Given the description of an element on the screen output the (x, y) to click on. 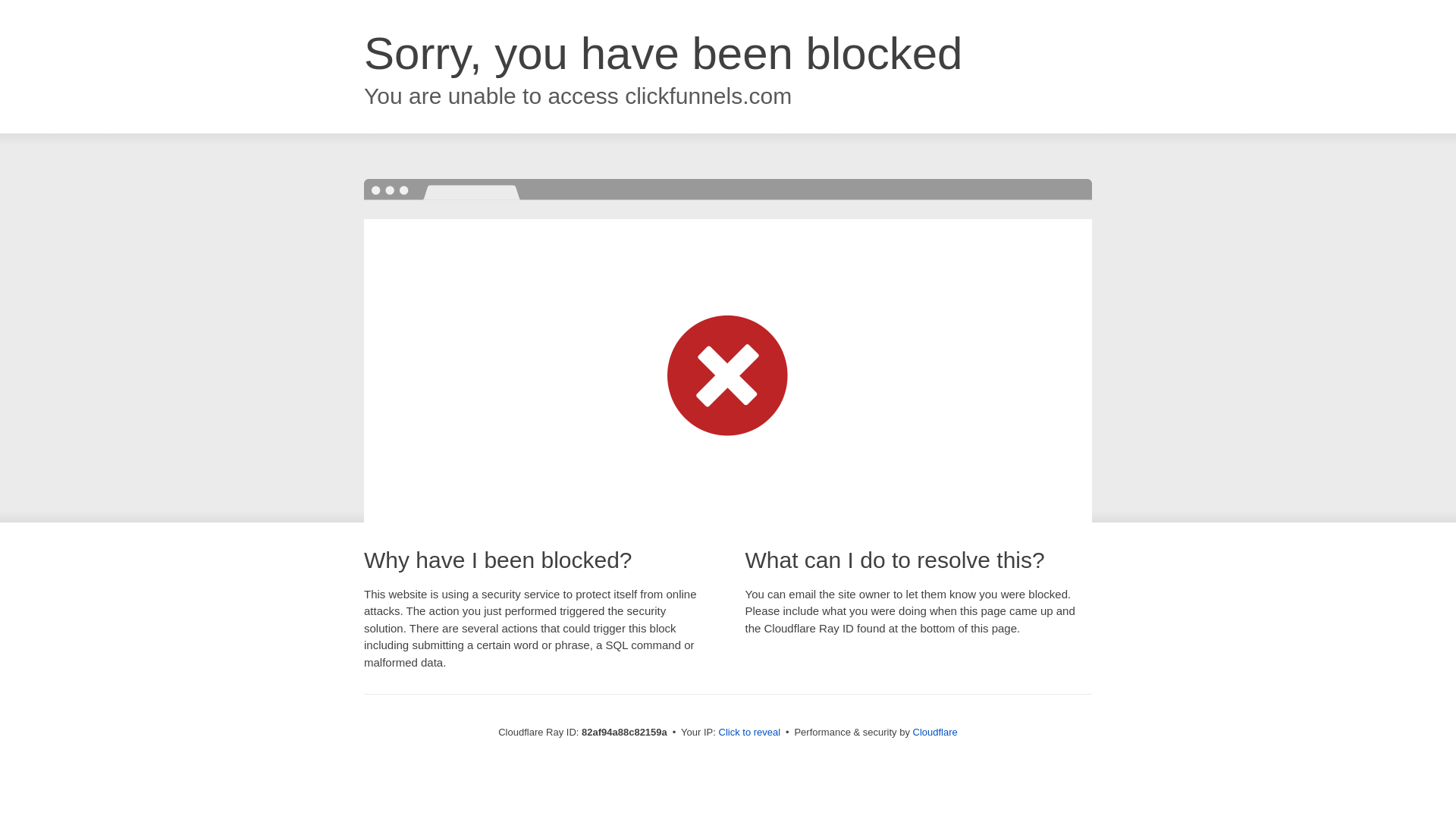
Cloudflare Element type: text (935, 731)
Click to reveal Element type: text (749, 732)
